Given the description of an element on the screen output the (x, y) to click on. 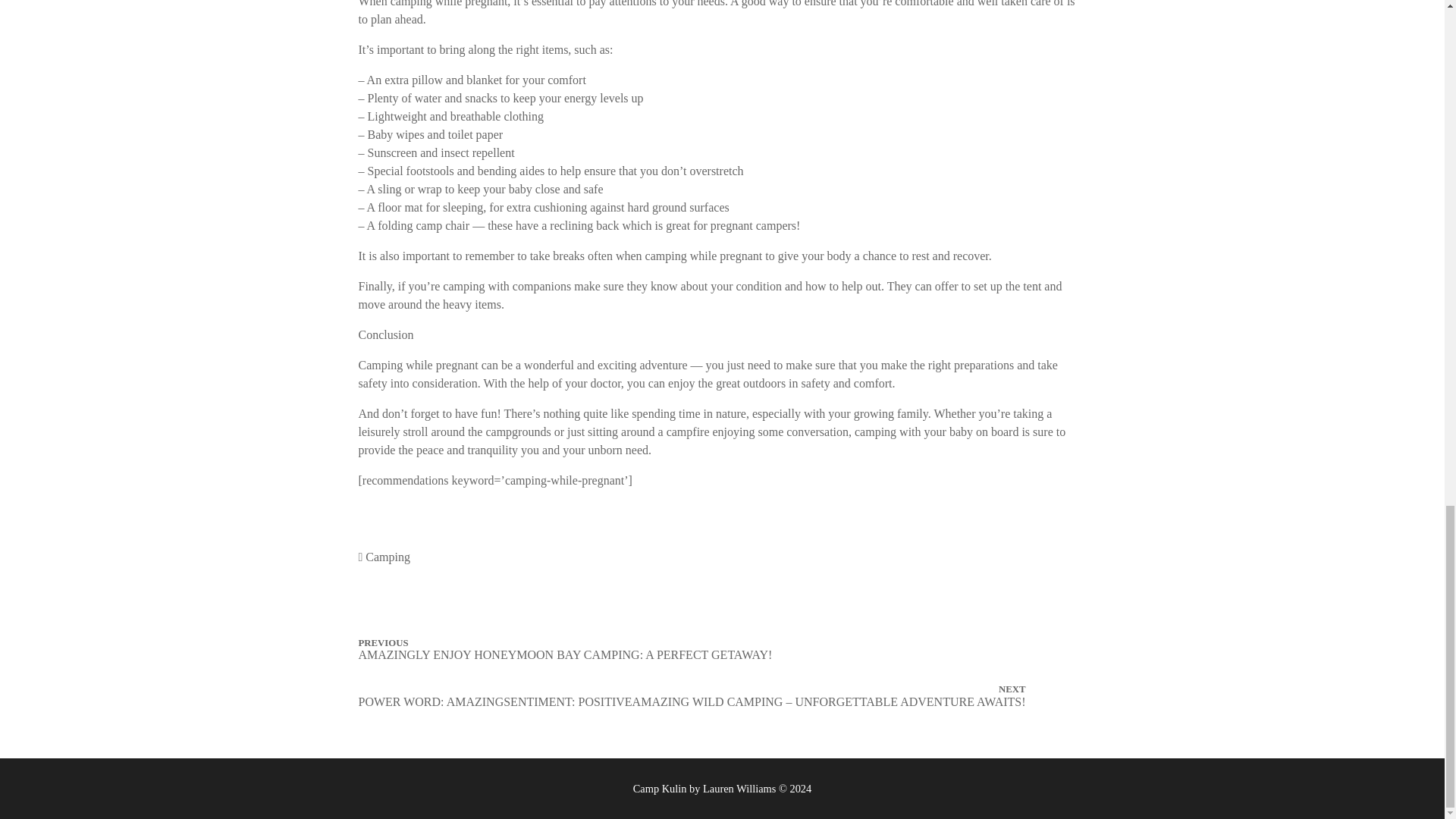
Camping (387, 556)
